Given the description of an element on the screen output the (x, y) to click on. 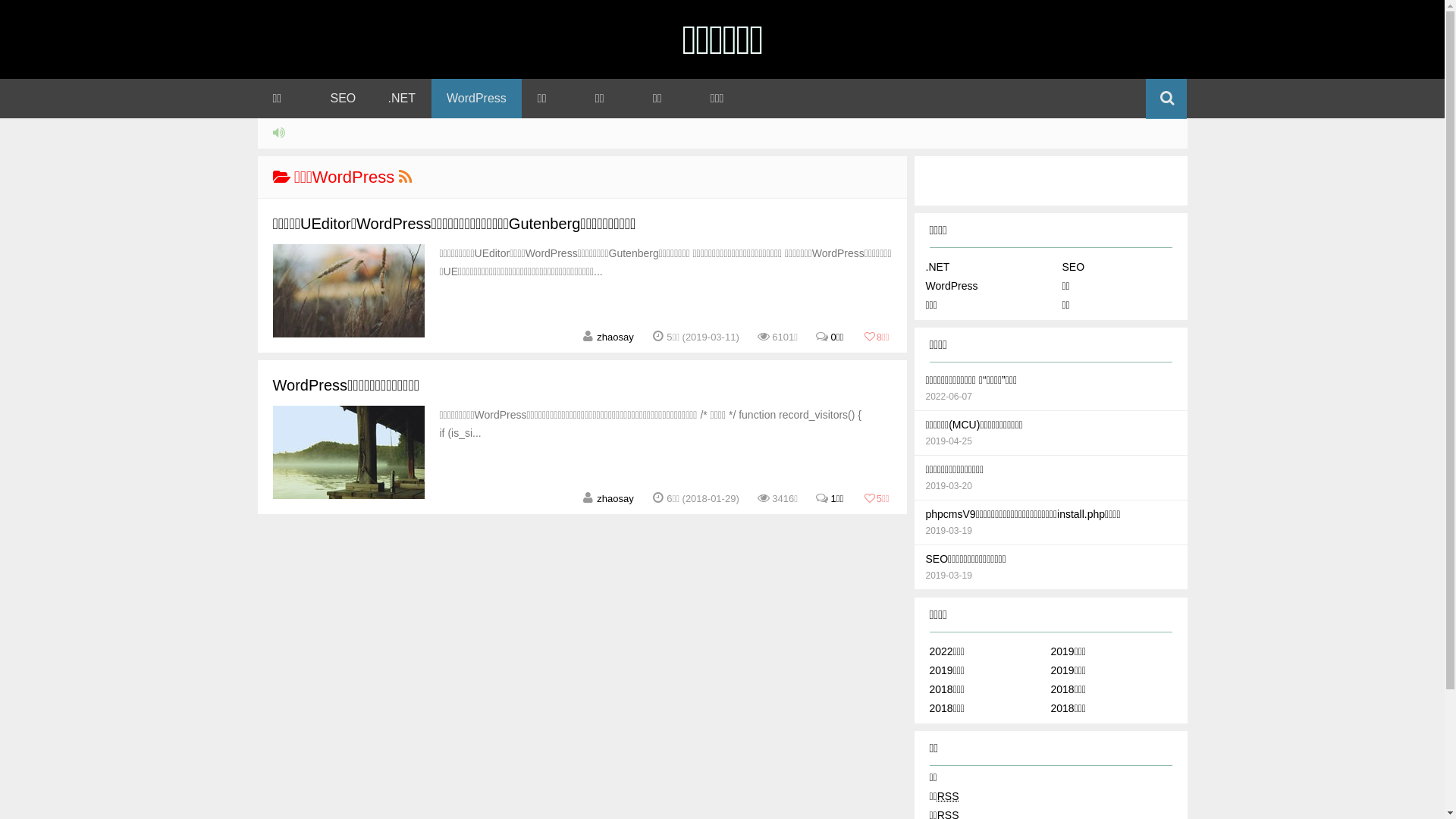
SEO Element type: text (343, 98)
.NET Element type: text (401, 98)
WordPress Element type: text (476, 98)
zhaosay Element type: text (614, 498)
WordPress Element type: text (951, 285)
SEO Element type: text (1072, 266)
zhaosay Element type: text (614, 336)
.NET Element type: text (937, 266)
